Given the description of an element on the screen output the (x, y) to click on. 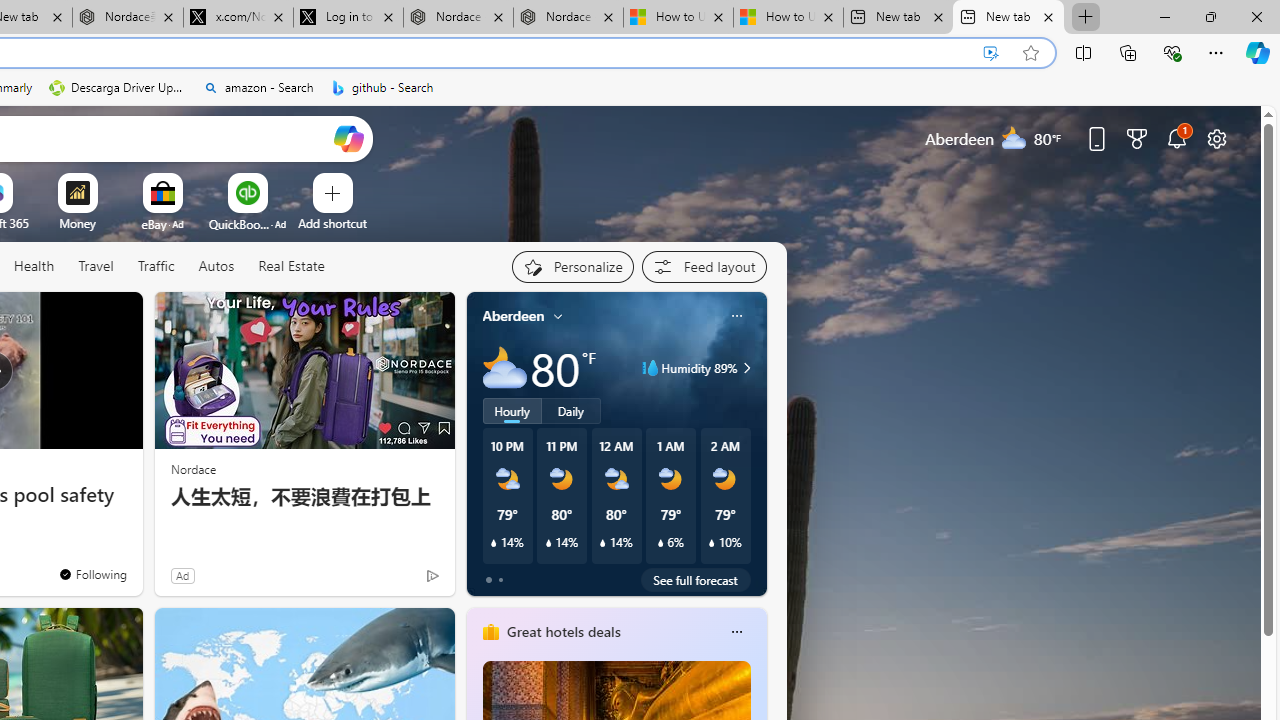
Autos (216, 267)
Travel (95, 267)
tab-1 (500, 579)
How to Use a Monitor With Your Closed Laptop (788, 17)
Class: weather-current-precipitation-glyph (712, 543)
Traffic (155, 265)
